Given the description of an element on the screen output the (x, y) to click on. 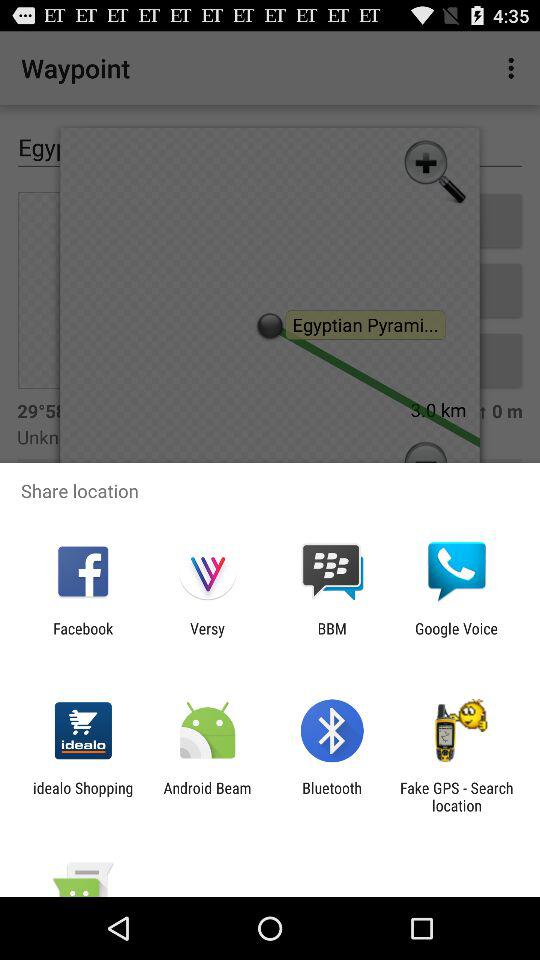
jump to the facebook app (83, 637)
